Given the description of an element on the screen output the (x, y) to click on. 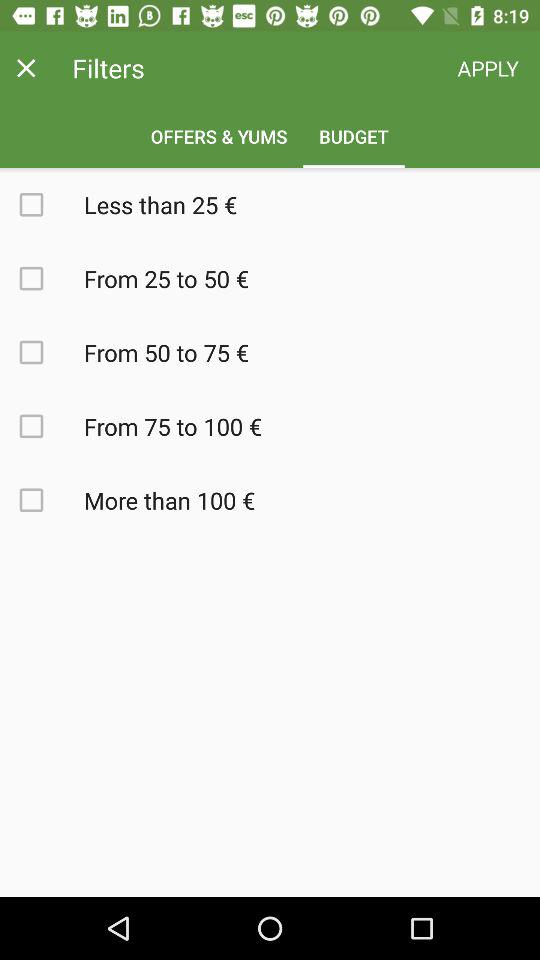
choose price (41, 204)
